Given the description of an element on the screen output the (x, y) to click on. 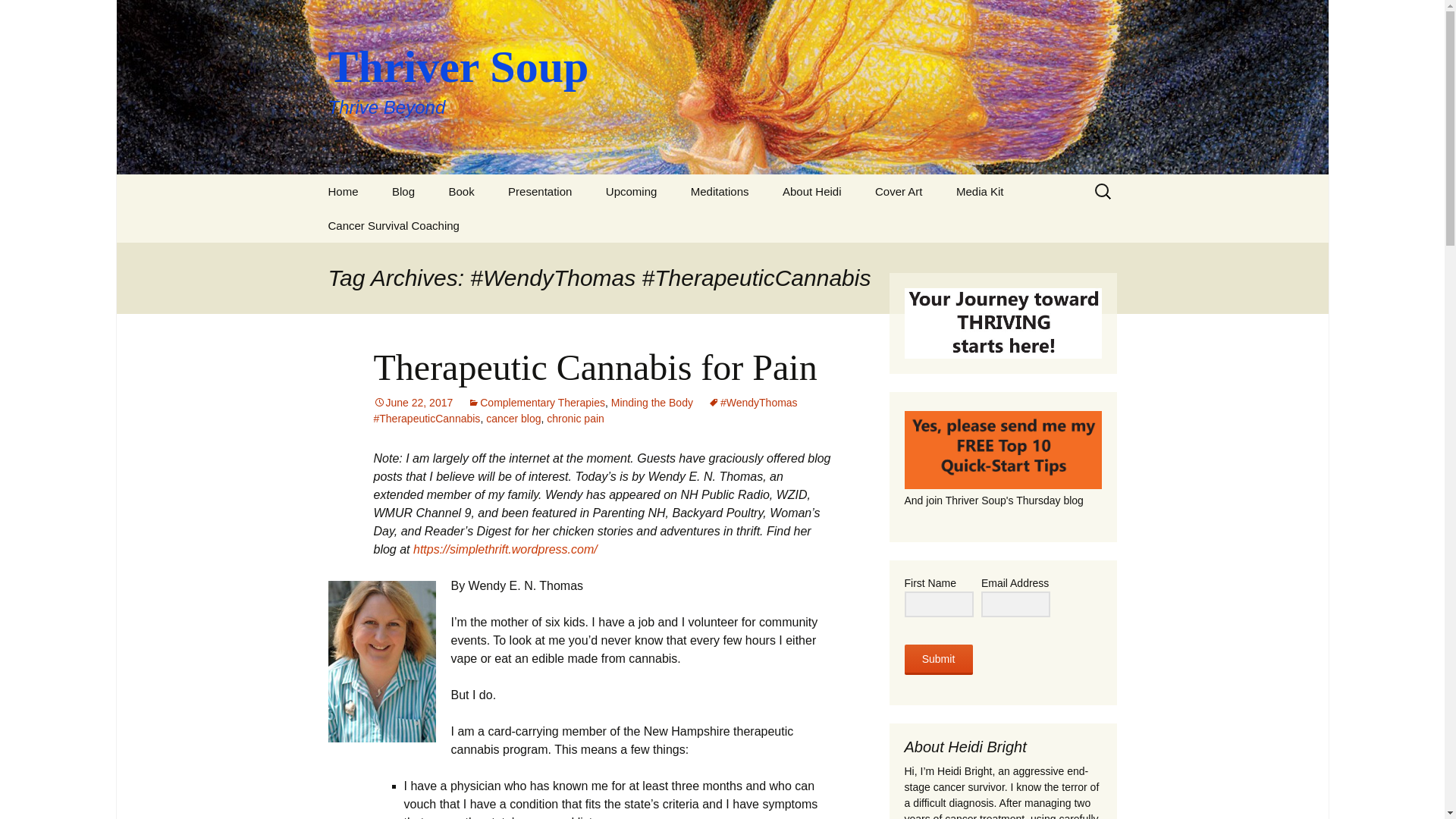
Cancer Survival Coaching (393, 225)
Book (460, 191)
Presentation (539, 191)
Media Kit (979, 191)
Cover Art (898, 191)
Upcoming (631, 191)
Therapeutic Cannabis for Pain (594, 367)
Complementary Therapies (536, 402)
cancer blog (513, 418)
About Heidi (812, 191)
Search (18, 15)
June 22, 2017 (34, 15)
